Given the description of an element on the screen output the (x, y) to click on. 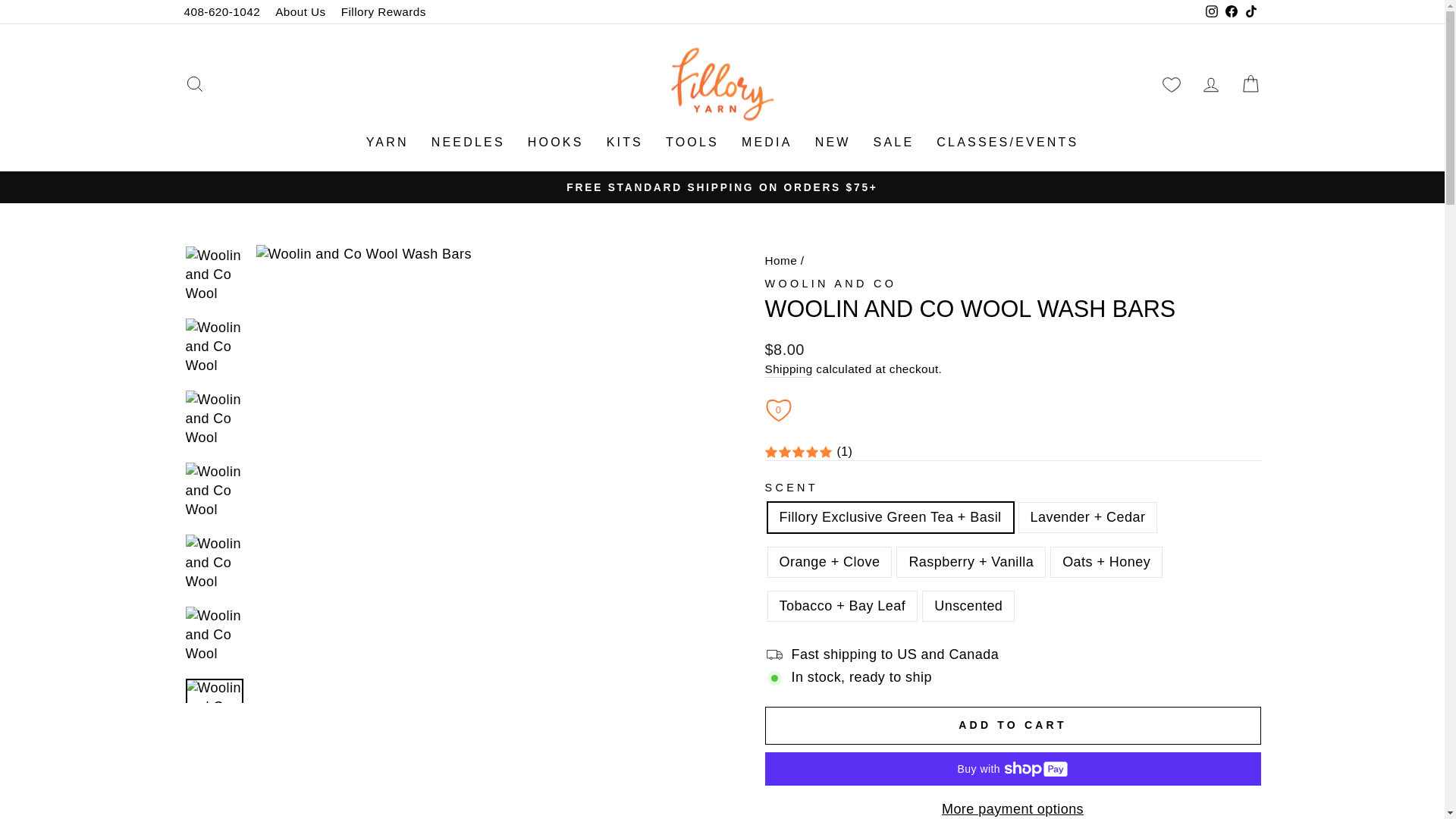
Back to the frontpage (780, 259)
Add to Wishlist (778, 410)
Fillory Yarn on Facebook (1230, 11)
Fillory Yarn on Instagram (1211, 11)
Fillory Yarn on TikTok (1250, 11)
Woolin and Co (830, 283)
0 (778, 410)
